Given the description of an element on the screen output the (x, y) to click on. 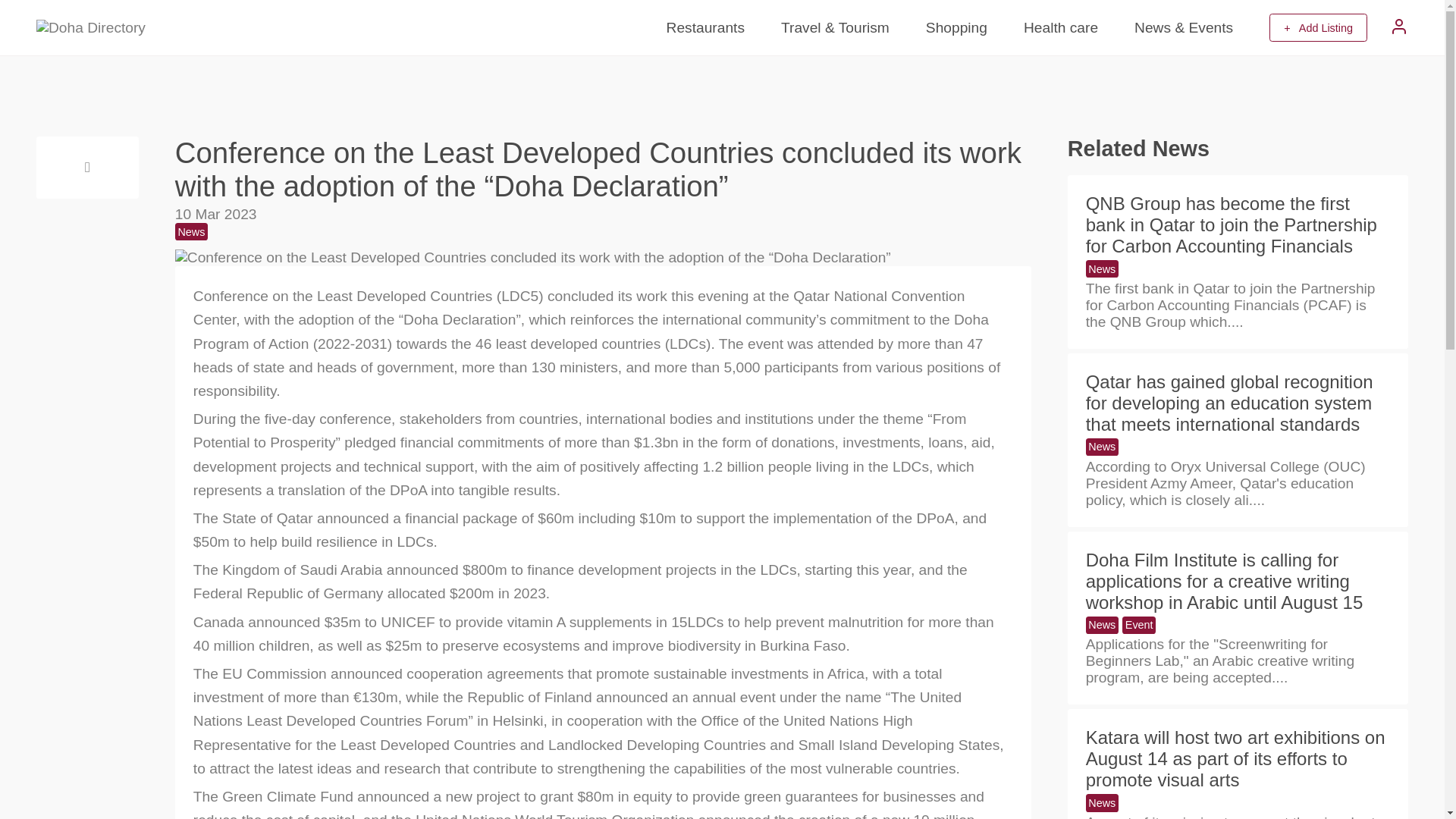
News (1102, 268)
Shopping (956, 27)
Restaurants (705, 27)
News (1102, 624)
Event (1139, 624)
Health care (1060, 27)
News (1102, 802)
News (1102, 446)
